Given the description of an element on the screen output the (x, y) to click on. 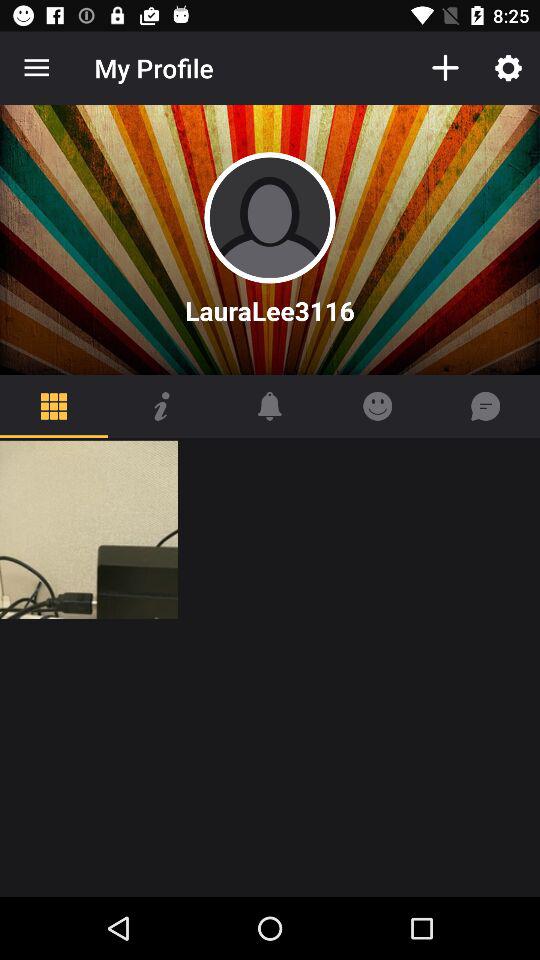
select icon next to my profile icon (444, 68)
